Given the description of an element on the screen output the (x, y) to click on. 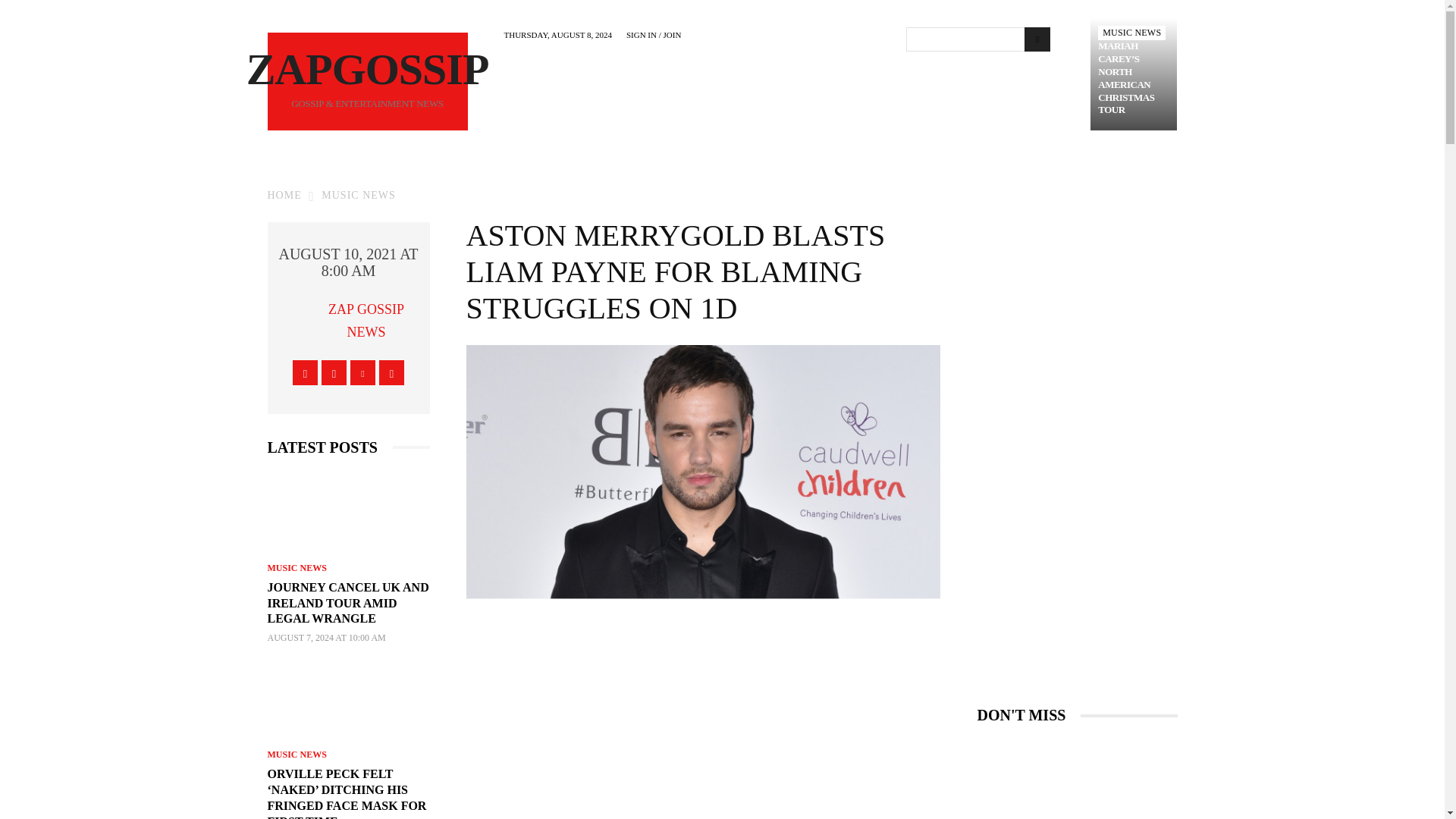
Journey cancel UK and Ireland tour amid legal wrangle (347, 602)
Journey cancel UK and Ireland tour amid legal wrangle (347, 512)
MUSIC NEWS (1131, 32)
View all posts in Music News (358, 194)
